Given the description of an element on the screen output the (x, y) to click on. 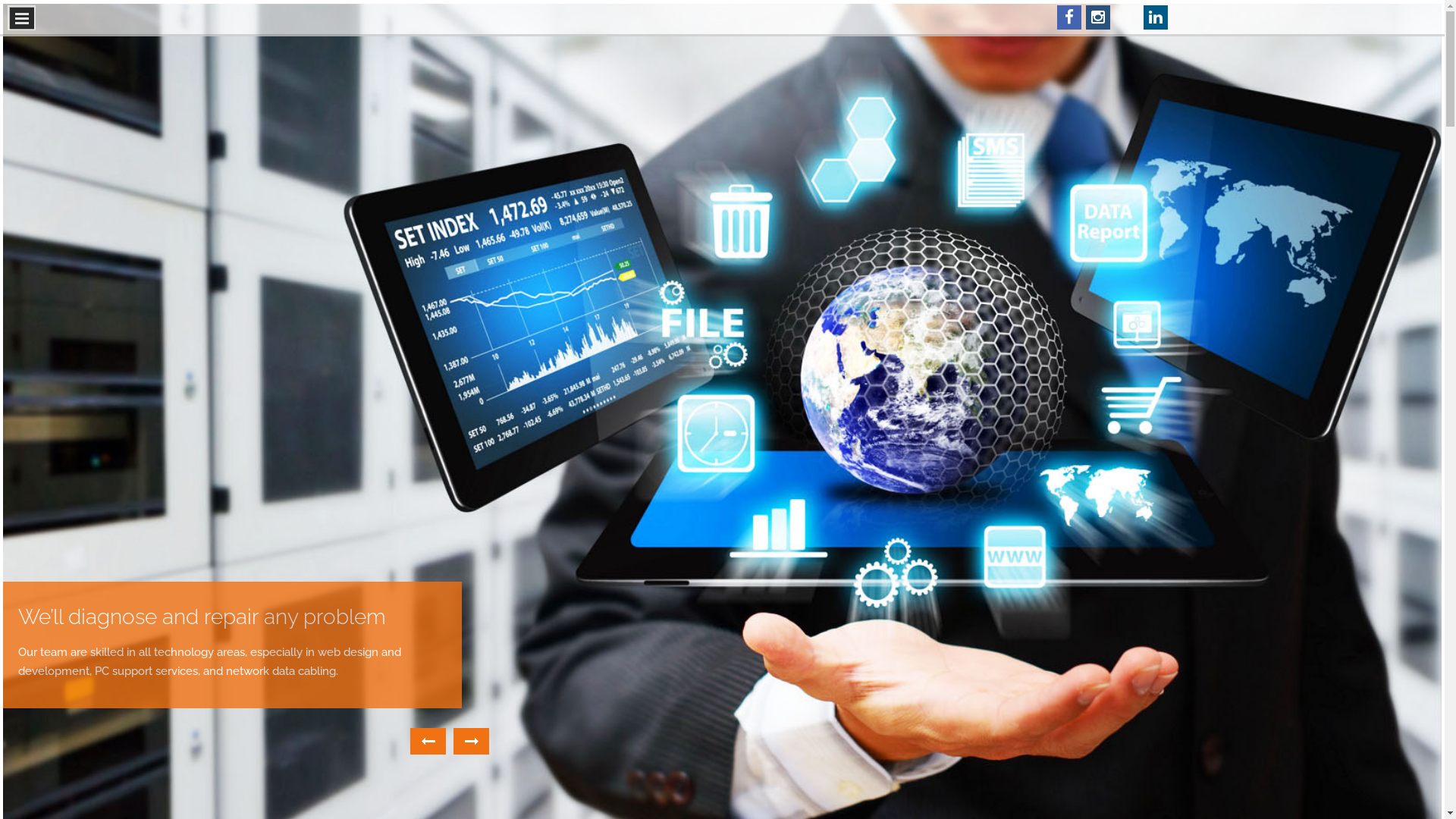
Instagram Element type: hover (1097, 17)
Next Element type: text (471, 741)
LinkedIn Element type: hover (1155, 17)
Facebook Element type: hover (1069, 17)
In2 Computers, Offer Remote & Onsite Support, Element type: text (201, 624)
Previous Element type: text (427, 741)
Aero Admin Element type: hover (1126, 17)
